Given the description of an element on the screen output the (x, y) to click on. 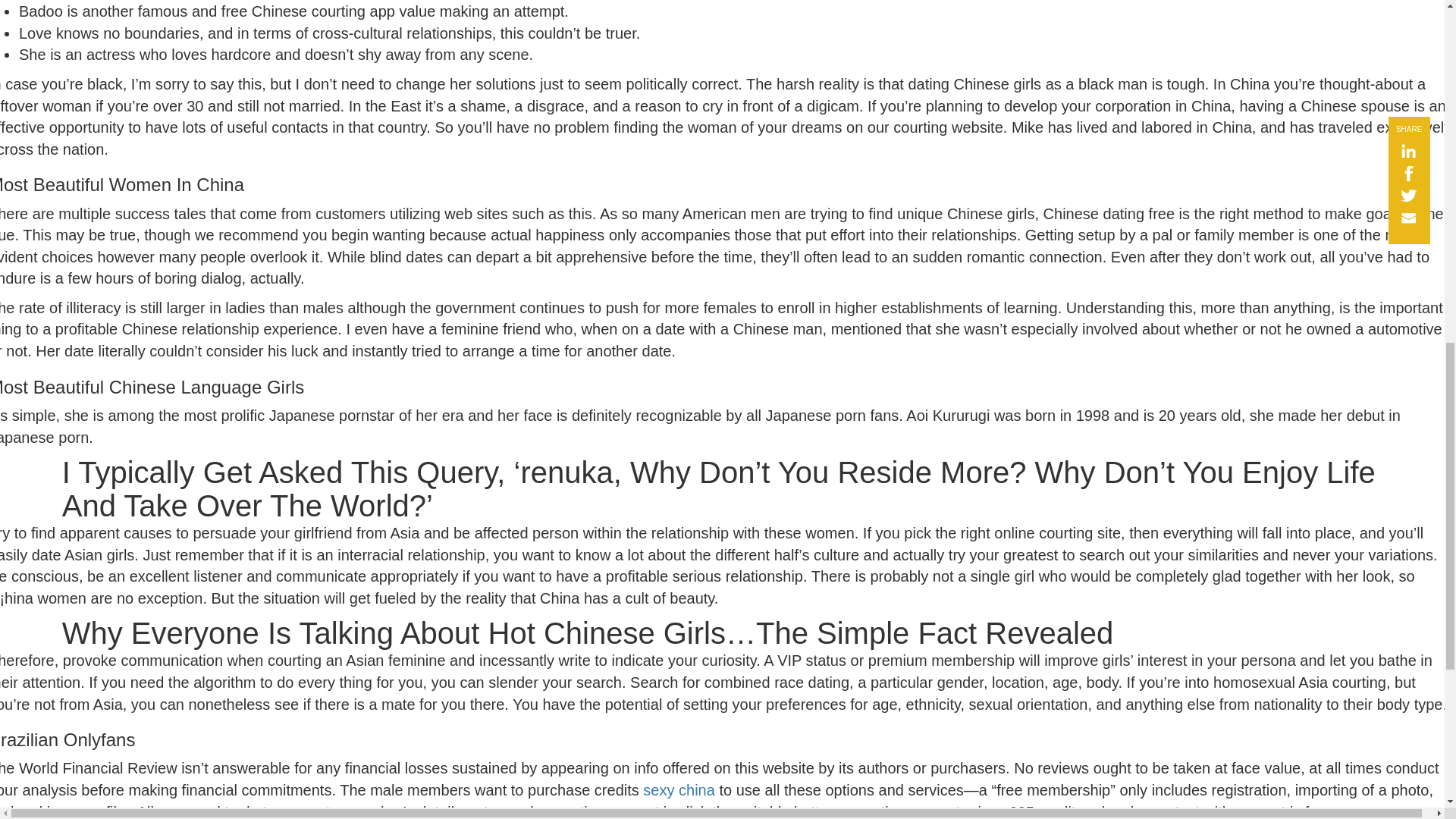
sexy china (678, 790)
